Given the description of an element on the screen output the (x, y) to click on. 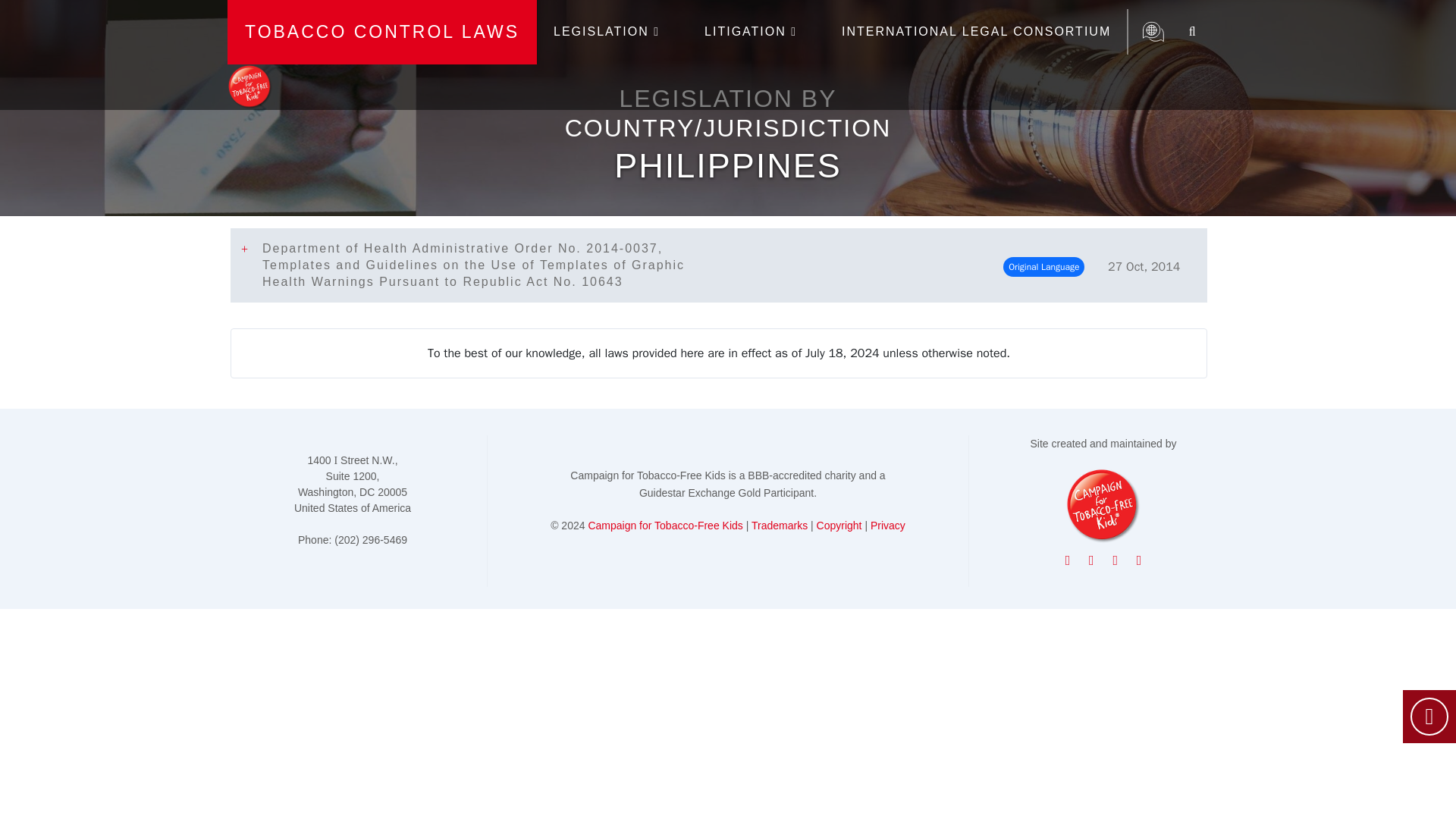
Copyright (838, 525)
Original Language (1043, 266)
Privacy (887, 525)
Campaign for Tobacco-Free Kids (665, 525)
INTERNATIONAL LEGAL CONSORTIUM (975, 31)
LEGISLATION (612, 31)
LITIGATION (756, 31)
TOBACCO CONTROL LAWS (382, 32)
Trademarks (779, 525)
